Given the description of an element on the screen output the (x, y) to click on. 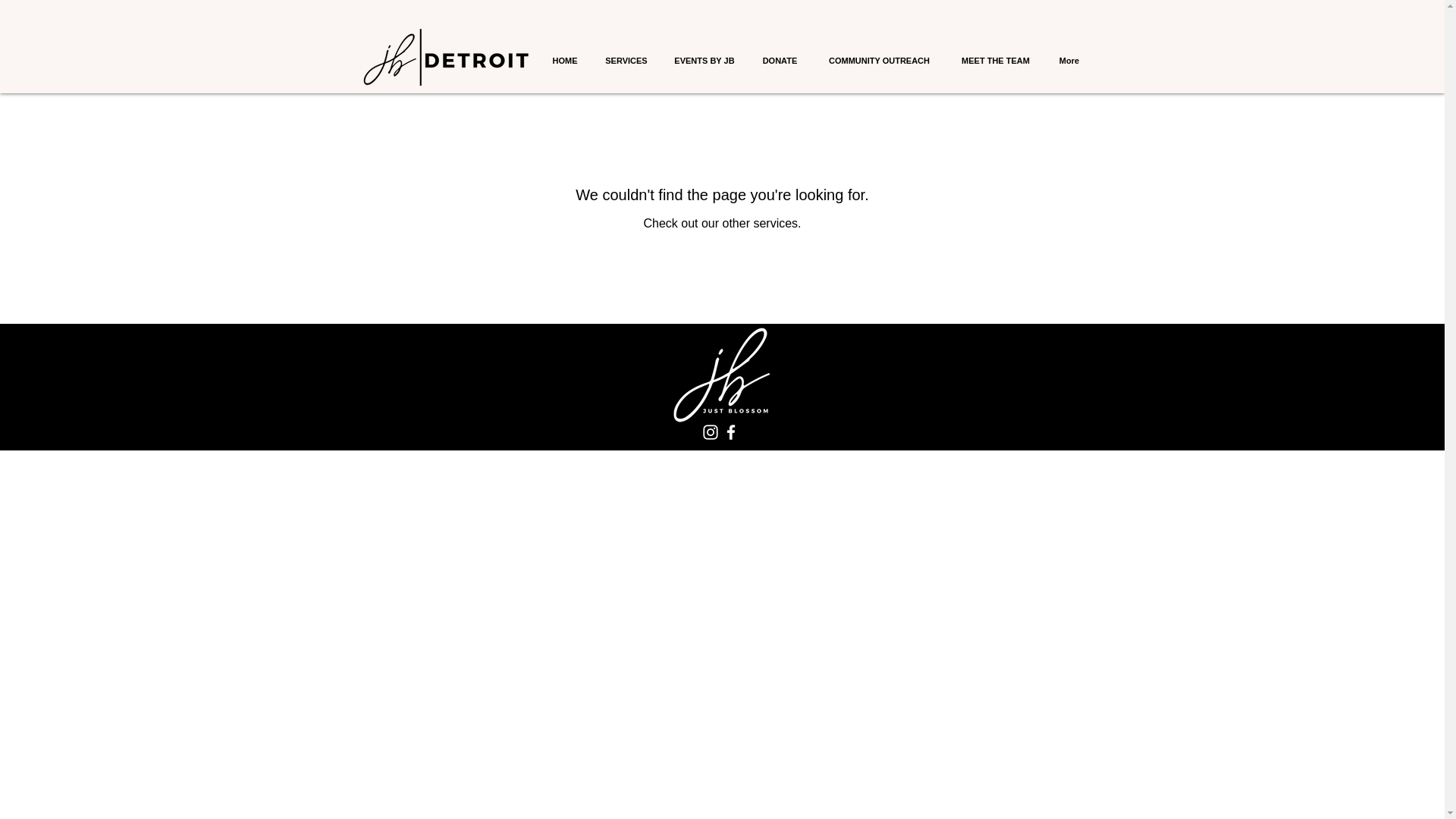
SERVICES (626, 60)
COMMUNITY OUTREACH (878, 60)
HOME (565, 60)
MEET THE TEAM (994, 60)
DONATE (779, 60)
EVENTS BY JB (704, 60)
